Given the description of an element on the screen output the (x, y) to click on. 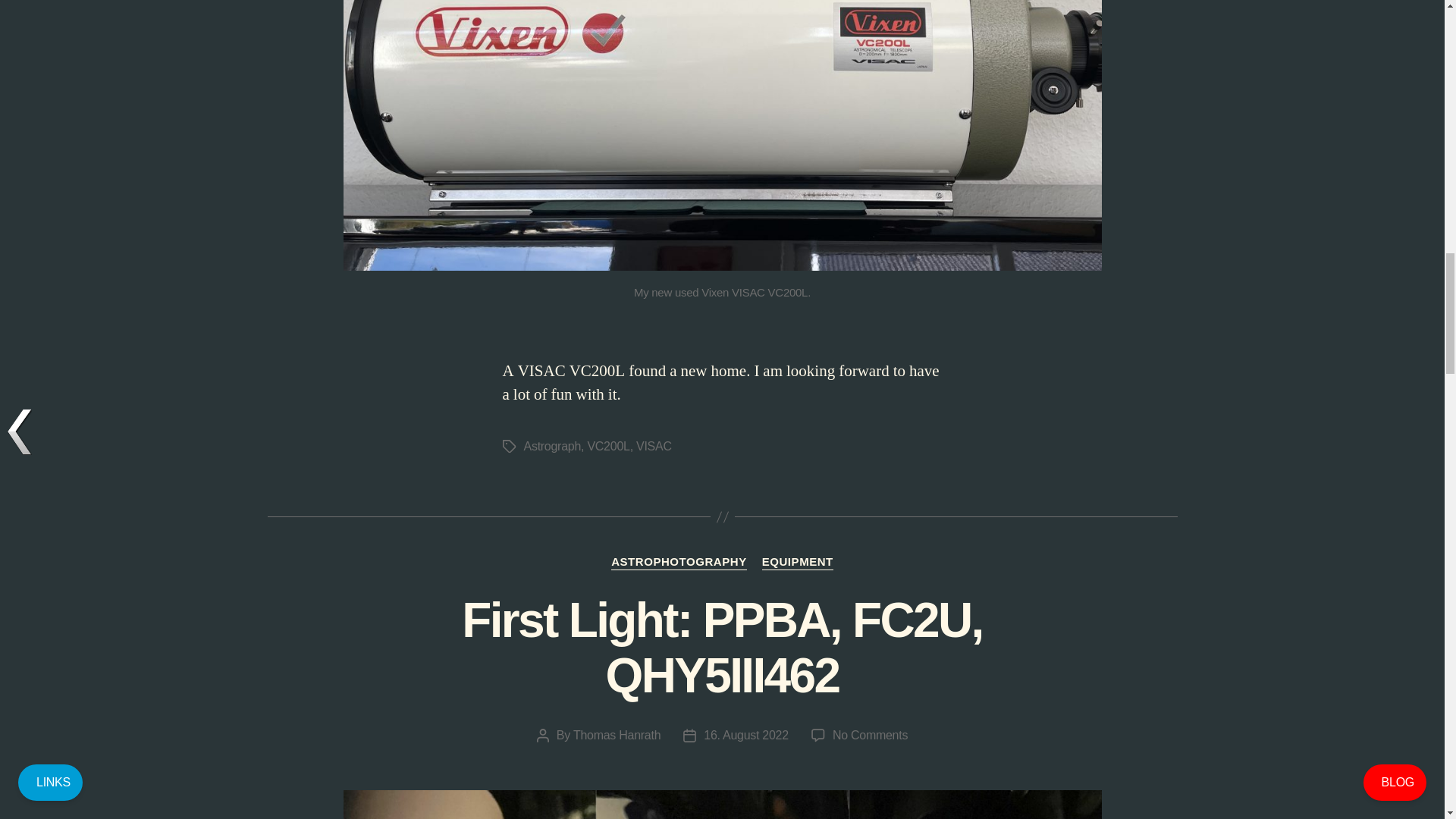
Astrograph (551, 445)
